Given the description of an element on the screen output the (x, y) to click on. 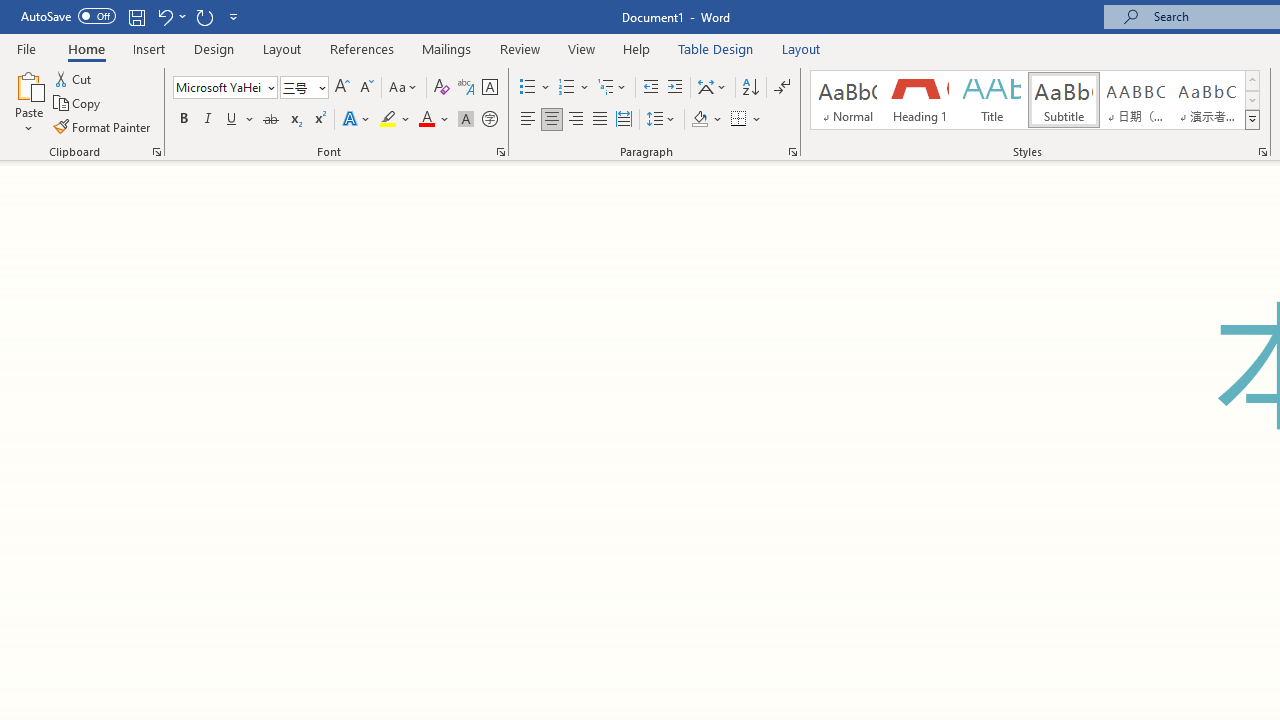
Office Clipboard... (156, 151)
Format Painter (103, 126)
Justify (599, 119)
Row up (1252, 79)
Open (320, 87)
Class: NetUIImage (1252, 119)
Increase Indent (675, 87)
Distributed (623, 119)
Home (86, 48)
Character Border (489, 87)
AutoSave (68, 16)
Font... (500, 151)
More Options (757, 119)
